Given the description of an element on the screen output the (x, y) to click on. 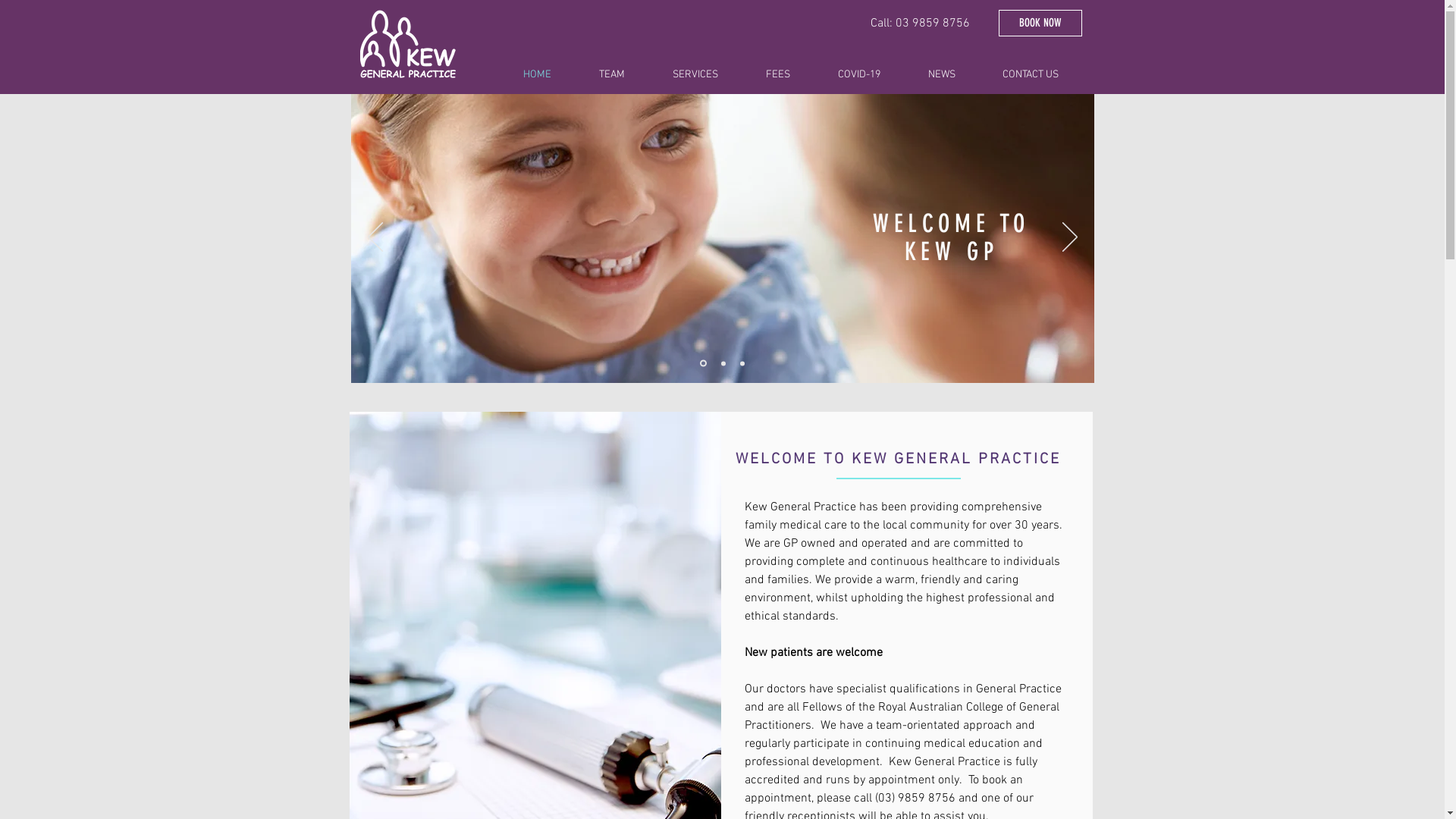
COVID-19 Element type: text (871, 75)
CONTACT US Element type: text (1041, 75)
FEES Element type: text (789, 75)
TEAM Element type: text (623, 75)
HOME Element type: text (548, 75)
BOOK NOW Element type: text (1039, 22)
NEWS Element type: text (953, 75)
SERVICES Element type: text (707, 75)
